Given the description of an element on the screen output the (x, y) to click on. 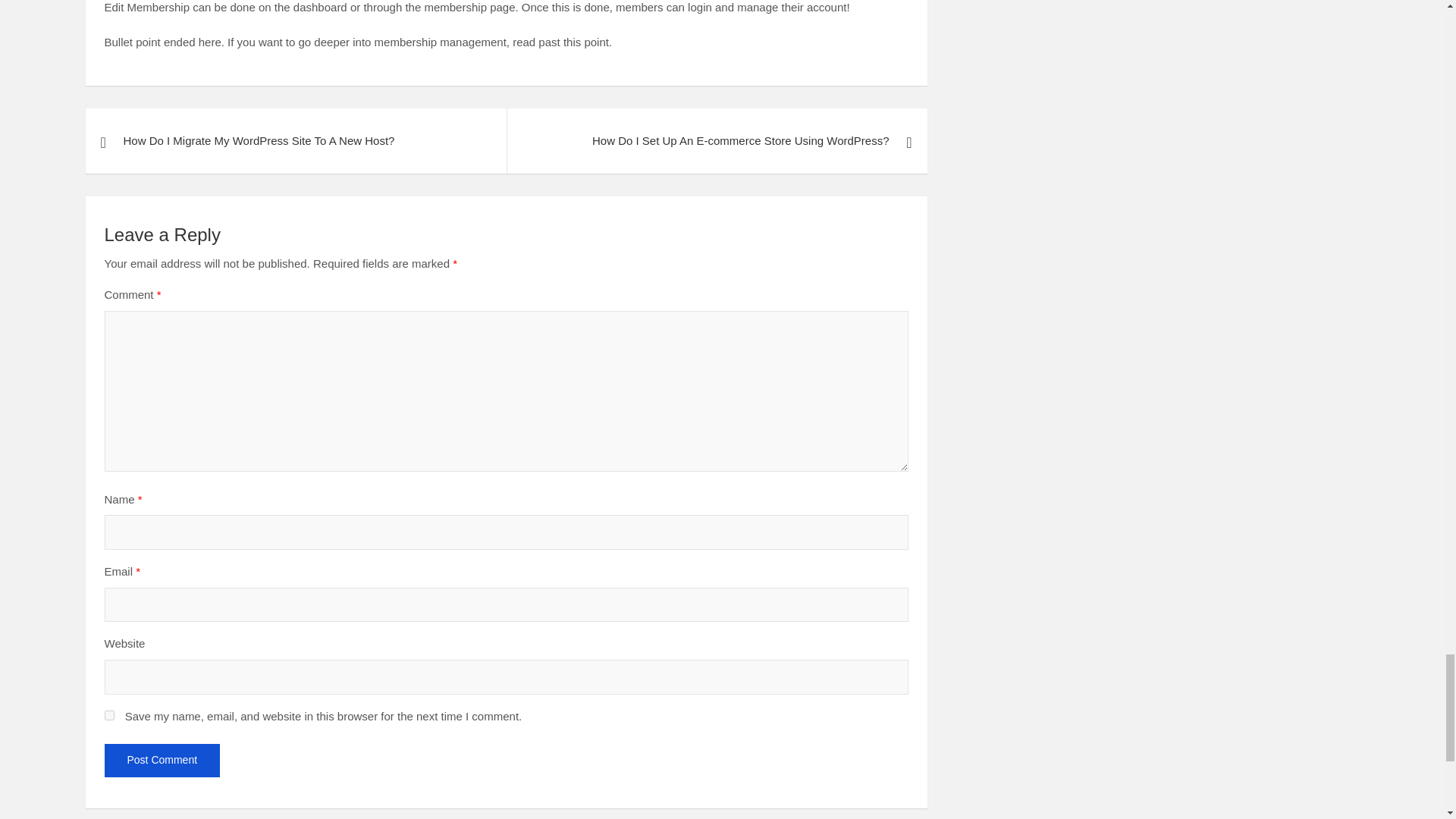
How Do I Migrate My WordPress Site To A New Host? (294, 140)
yes (109, 715)
How Do I Set Up An E-commerce Store Using WordPress? (716, 140)
Post Comment (162, 760)
Post Comment (162, 760)
